Given the description of an element on the screen output the (x, y) to click on. 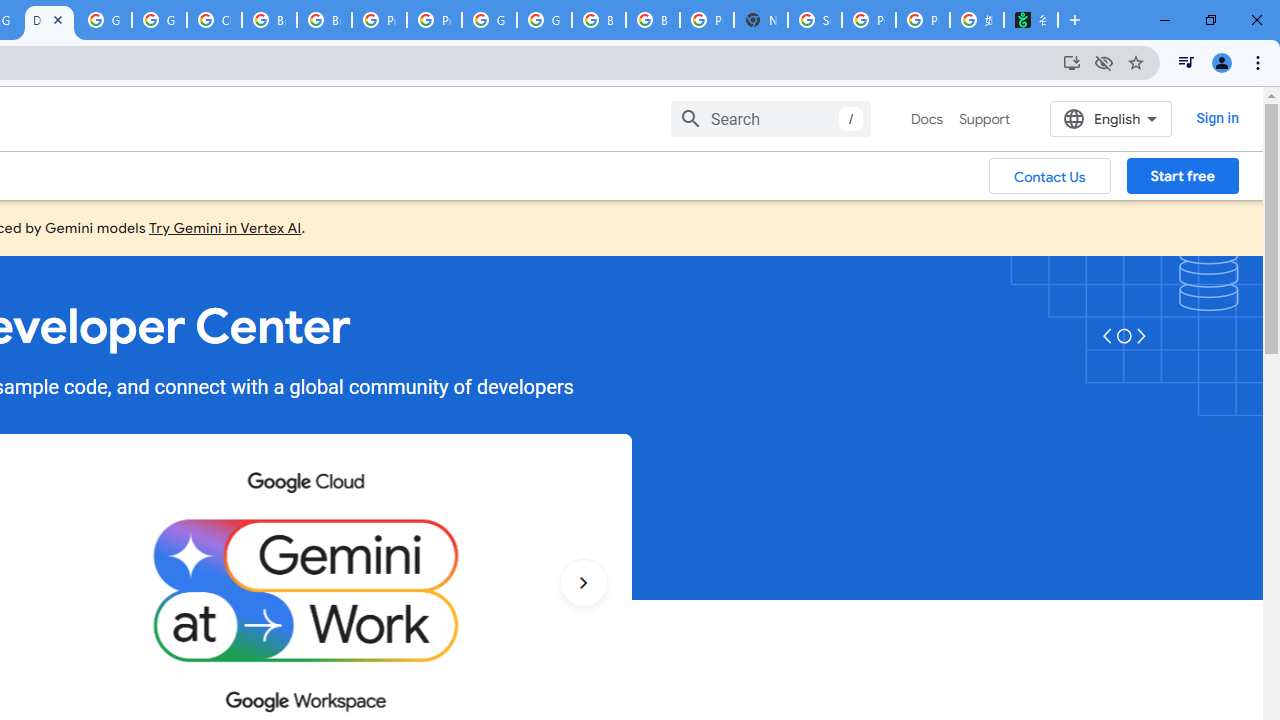
Browse Chrome as a guest - Computer - Google Chrome Help (268, 20)
Google Cloud Platform (103, 20)
Contact Us (1050, 175)
Start free (1182, 175)
New Tab (760, 20)
